Given the description of an element on the screen output the (x, y) to click on. 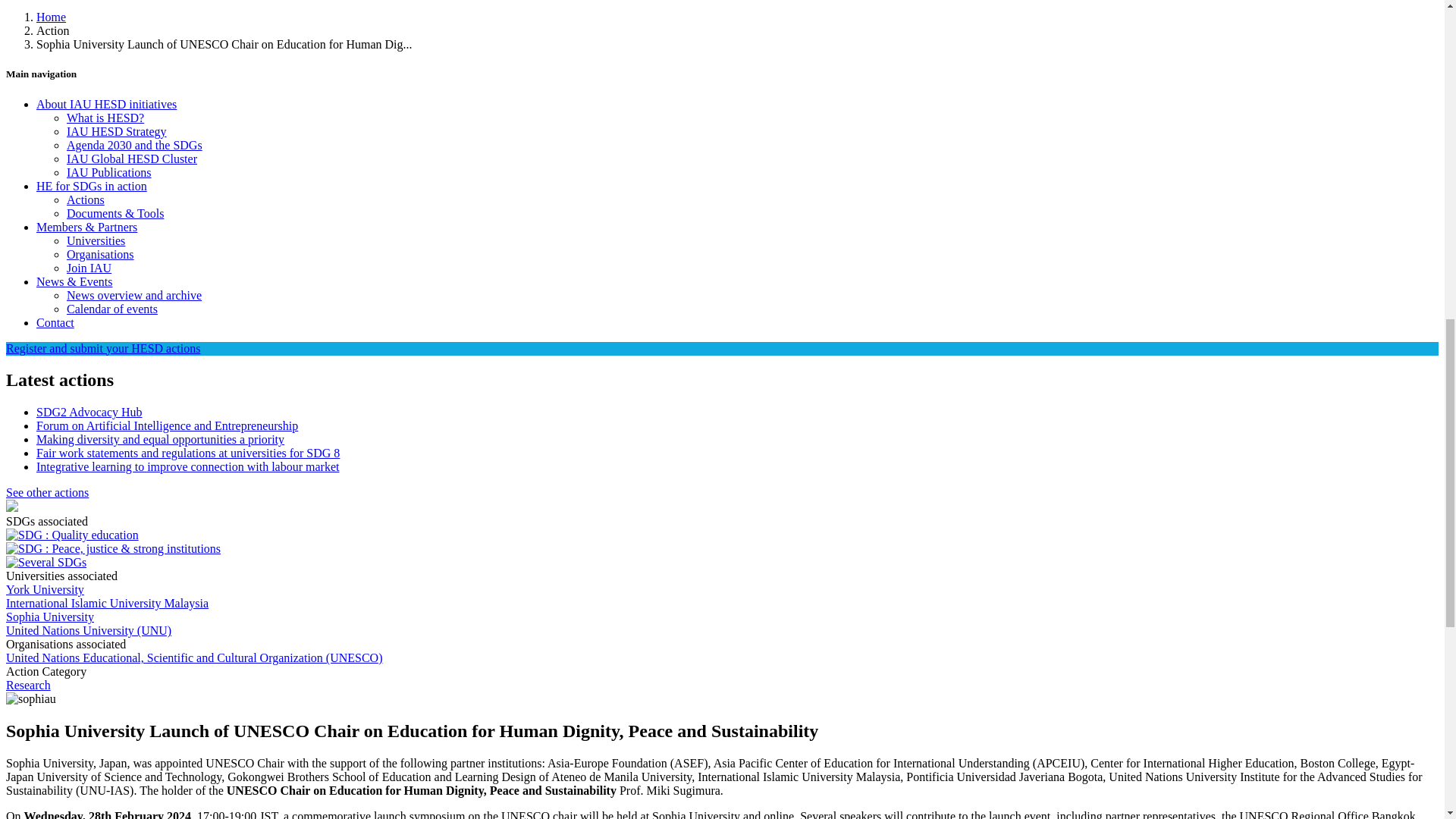
News overview and archive (134, 294)
HE for SDGs in action (91, 185)
Organisations (99, 253)
Actions (85, 198)
Calendar of events (111, 308)
IAU Global HESD Cluster (131, 157)
Expand menu About IAU HESD initiatives (106, 103)
About IAU HESD initiatives (106, 103)
Universities (95, 239)
Join IAU (89, 267)
What is HESD? (105, 116)
IAU Publications (108, 171)
IAU HESD Strategy (116, 130)
Home (50, 16)
